Given the description of an element on the screen output the (x, y) to click on. 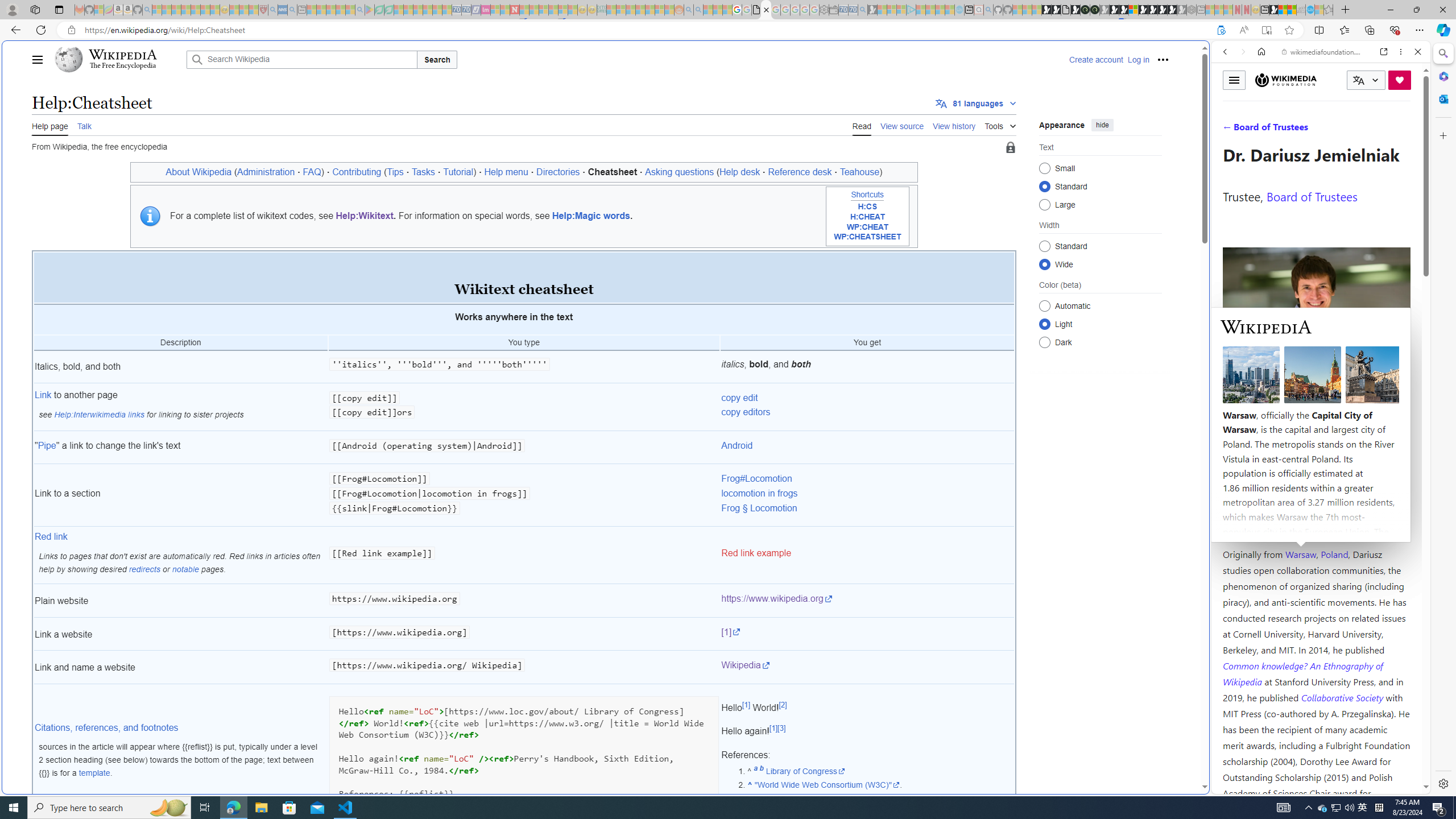
wikimediafoundation.org (1323, 51)
[1] (866, 634)
Kozminski University (1316, 486)
